Given the description of an element on the screen output the (x, y) to click on. 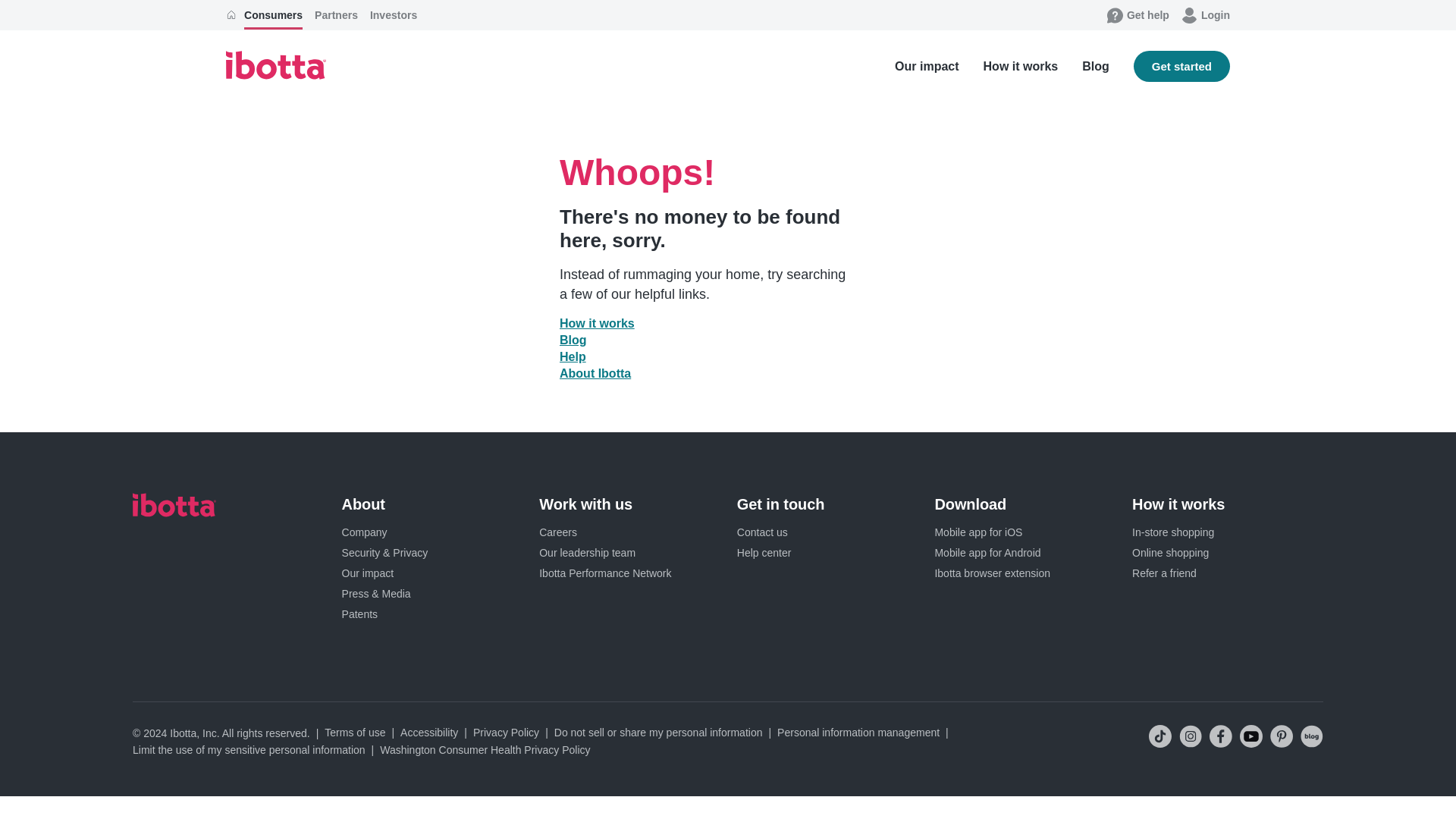
Contact us (761, 532)
Login (1205, 15)
Our impact (367, 573)
Online shopping (1170, 552)
Help center (764, 552)
Our leadership team (586, 552)
Blog (1095, 65)
Investors (392, 15)
Careers (557, 532)
Consumers (273, 15)
